Given the description of an element on the screen output the (x, y) to click on. 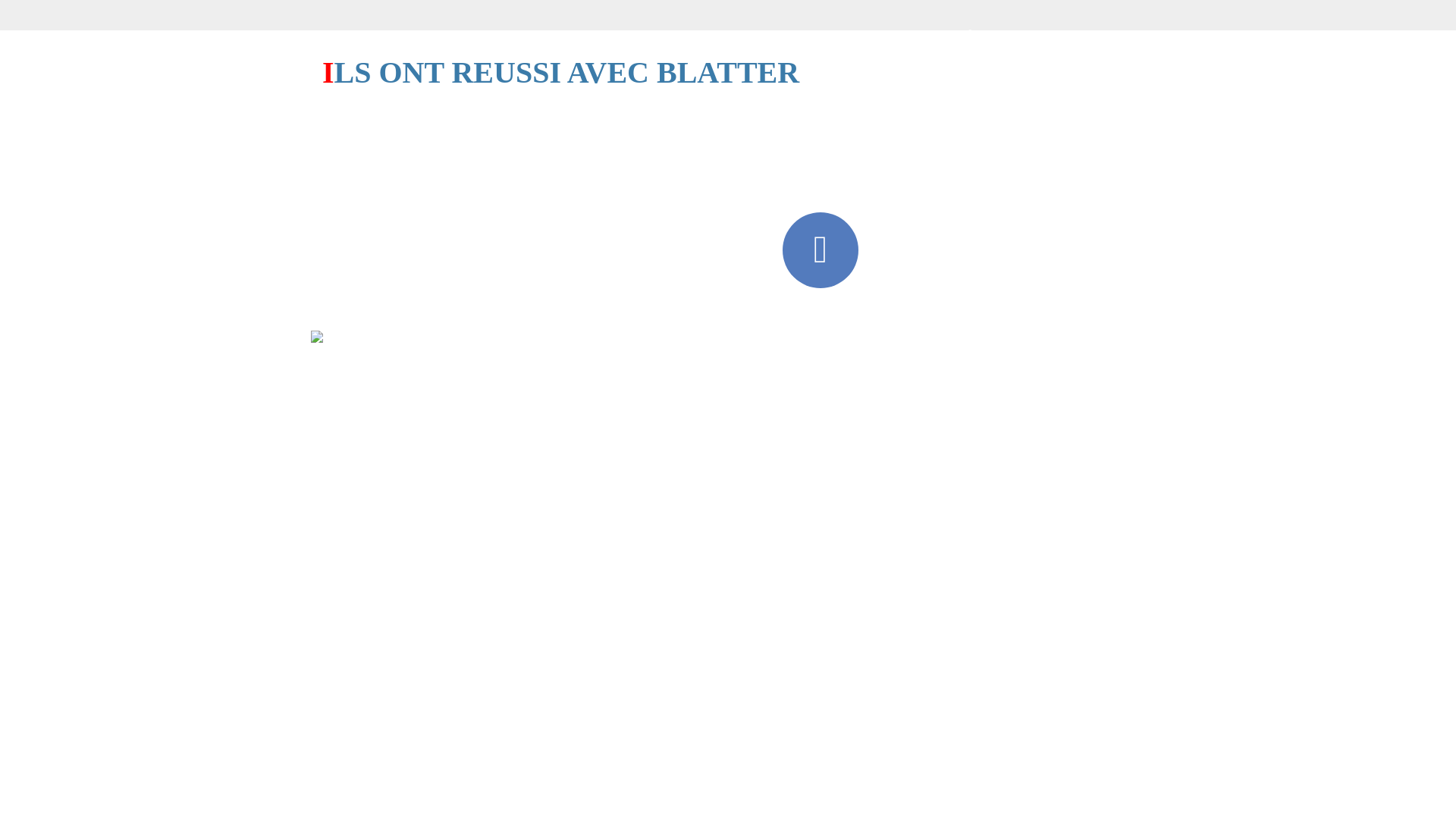
Permis Element type: text (418, 28)
1ers secours Element type: text (508, 28)
Moniteurs Element type: text (725, 28)
Sensibilisation Element type: text (619, 28)
facebook Element type: hover (820, 250)
Contact Element type: text (377, 84)
Nous trouver Element type: text (1050, 28)
Moto Element type: text (807, 28)
Horaires Element type: text (883, 28)
Tarifs Element type: text (960, 28)
